Given the description of an element on the screen output the (x, y) to click on. 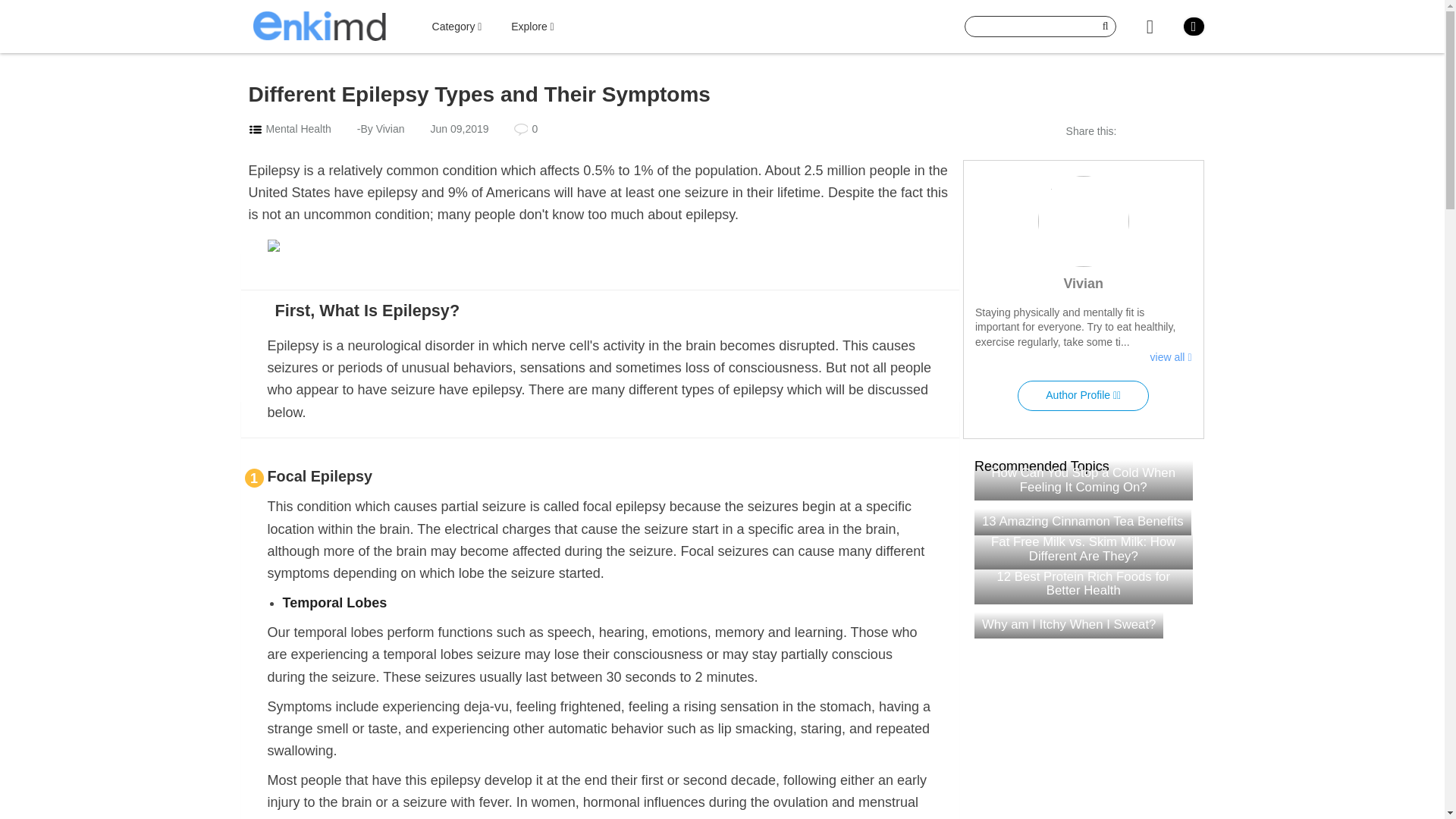
Mental Health (297, 128)
Explore (532, 26)
Category (457, 26)
